Given the description of an element on the screen output the (x, y) to click on. 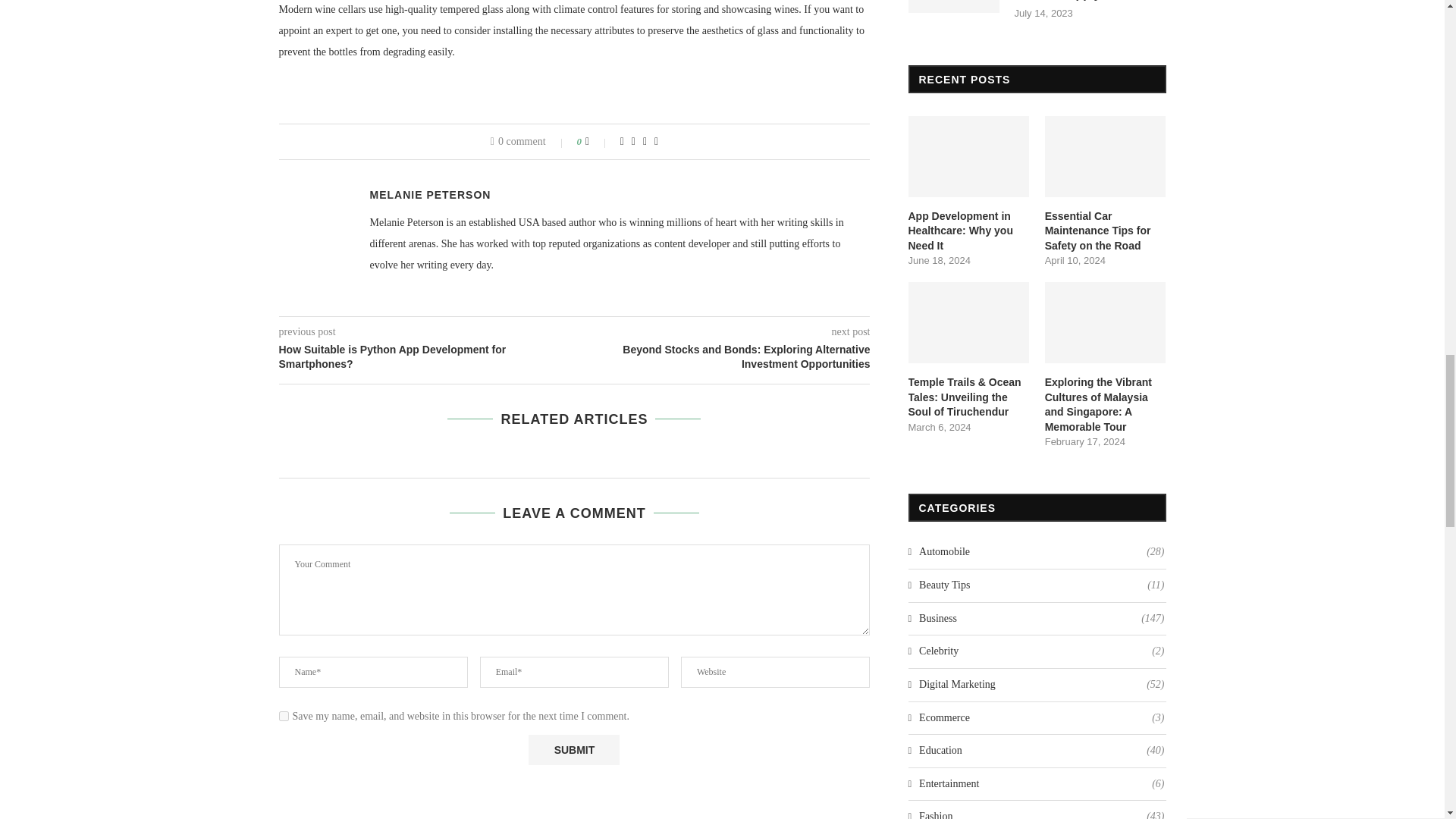
Submit (574, 749)
Posts by Melanie Peterson (430, 194)
yes (283, 716)
Like (597, 141)
